Given the description of an element on the screen output the (x, y) to click on. 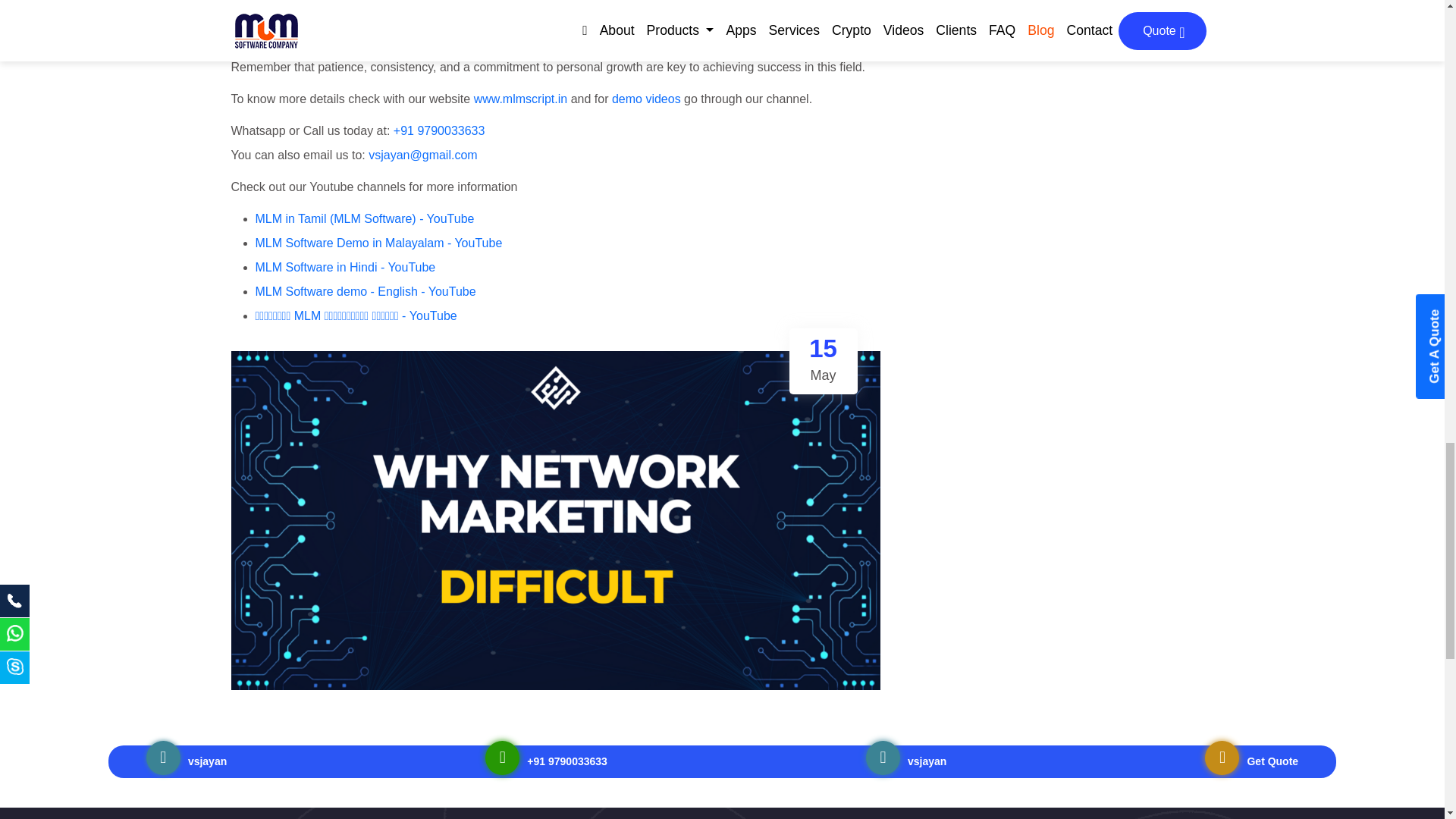
demo videos (646, 98)
MLM Software demo - English - YouTube (365, 291)
MLM Software Demo in Malayalam - YouTube (378, 242)
www.mlmscript.in (520, 98)
MLM Software in Hindi - YouTube (344, 267)
